Given the description of an element on the screen output the (x, y) to click on. 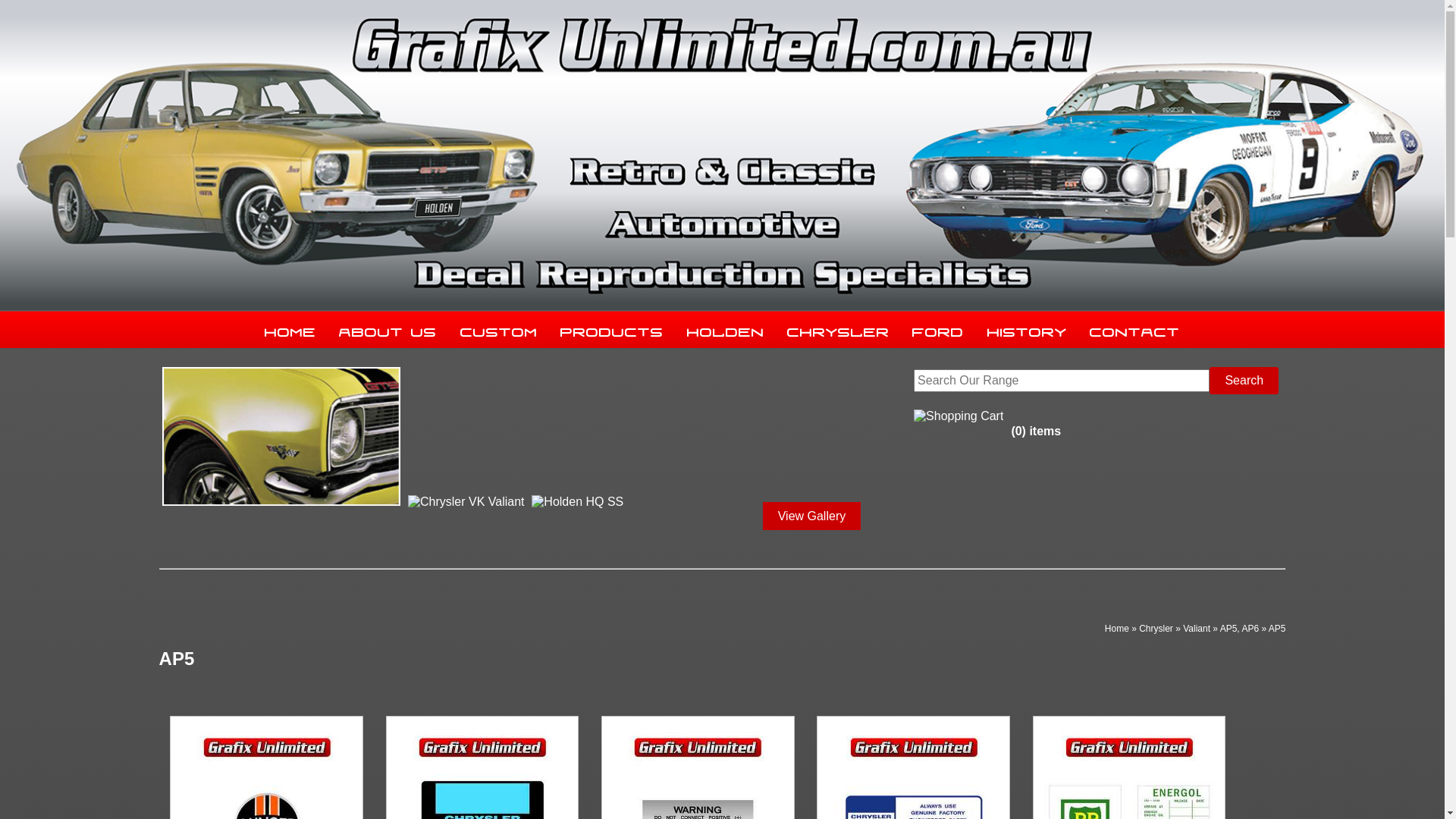
Products Element type: text (611, 329)
Holden Element type: text (724, 329)
About Us Element type: text (387, 329)
Chrysler Element type: text (1156, 628)
Home Element type: text (290, 329)
Home Element type: text (1116, 628)
Search Element type: text (1243, 380)
AP5 Element type: text (1277, 628)
Valiant Element type: text (1196, 628)
Custom Element type: text (498, 329)
History Element type: text (1026, 329)
Chrysler Element type: text (837, 329)
Contact Element type: text (1134, 329)
AP5, AP6 Element type: text (1239, 628)
Shopping Cart Element type: hover (958, 416)
View Gallery Element type: text (811, 516)
View Gallery Element type: text (812, 516)
Grafix Unlimited Element type: hover (722, 153)
(0) items Element type: text (986, 415)
Ford Element type: text (937, 329)
